Given the description of an element on the screen output the (x, y) to click on. 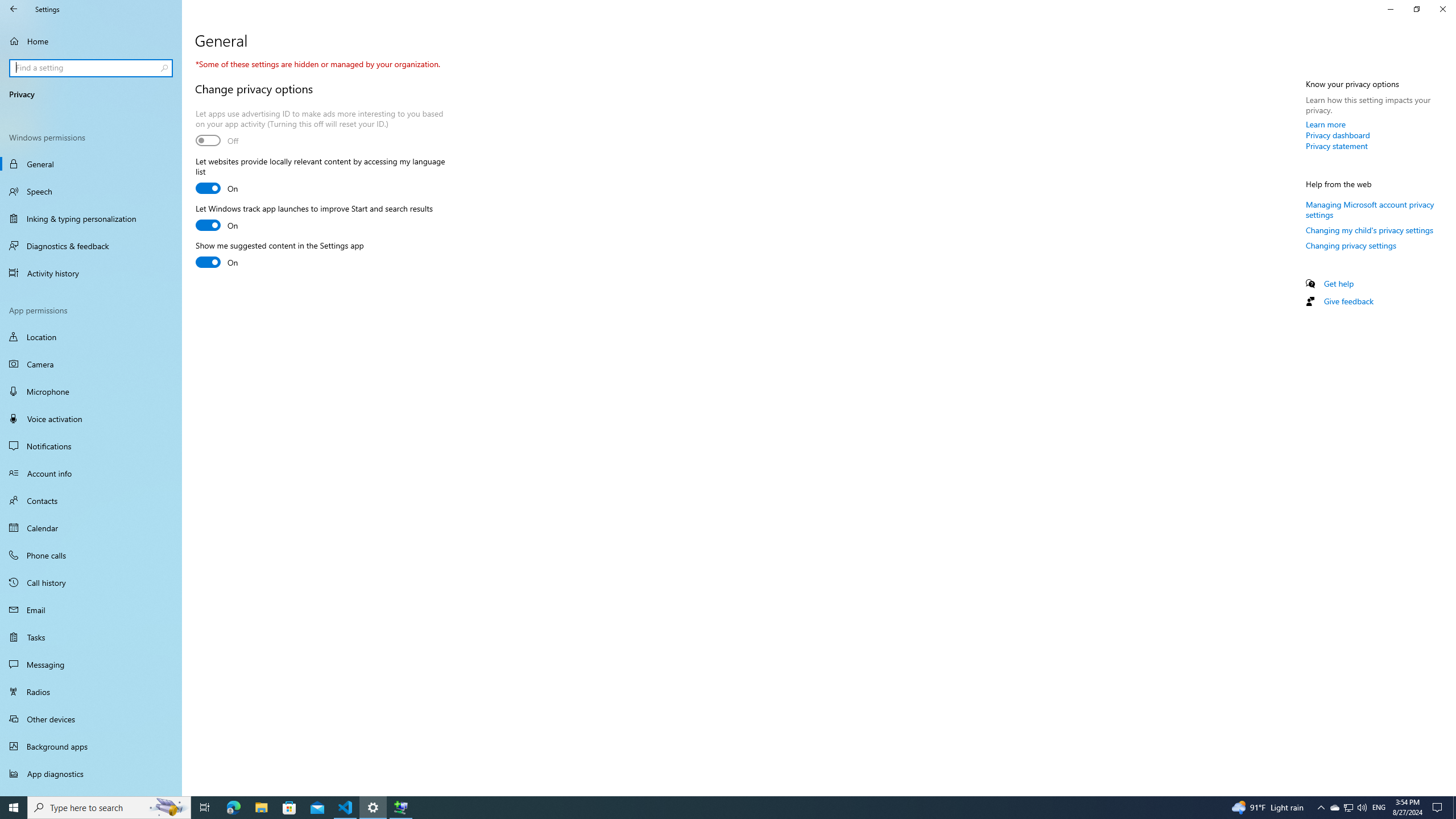
Learn more (1326, 123)
Calendar (91, 527)
Messaging (91, 664)
Contacts (91, 500)
Changing privacy settings (1351, 244)
Account info (91, 472)
Diagnostics & feedback (91, 245)
Call history (91, 582)
General (91, 163)
